Given the description of an element on the screen output the (x, y) to click on. 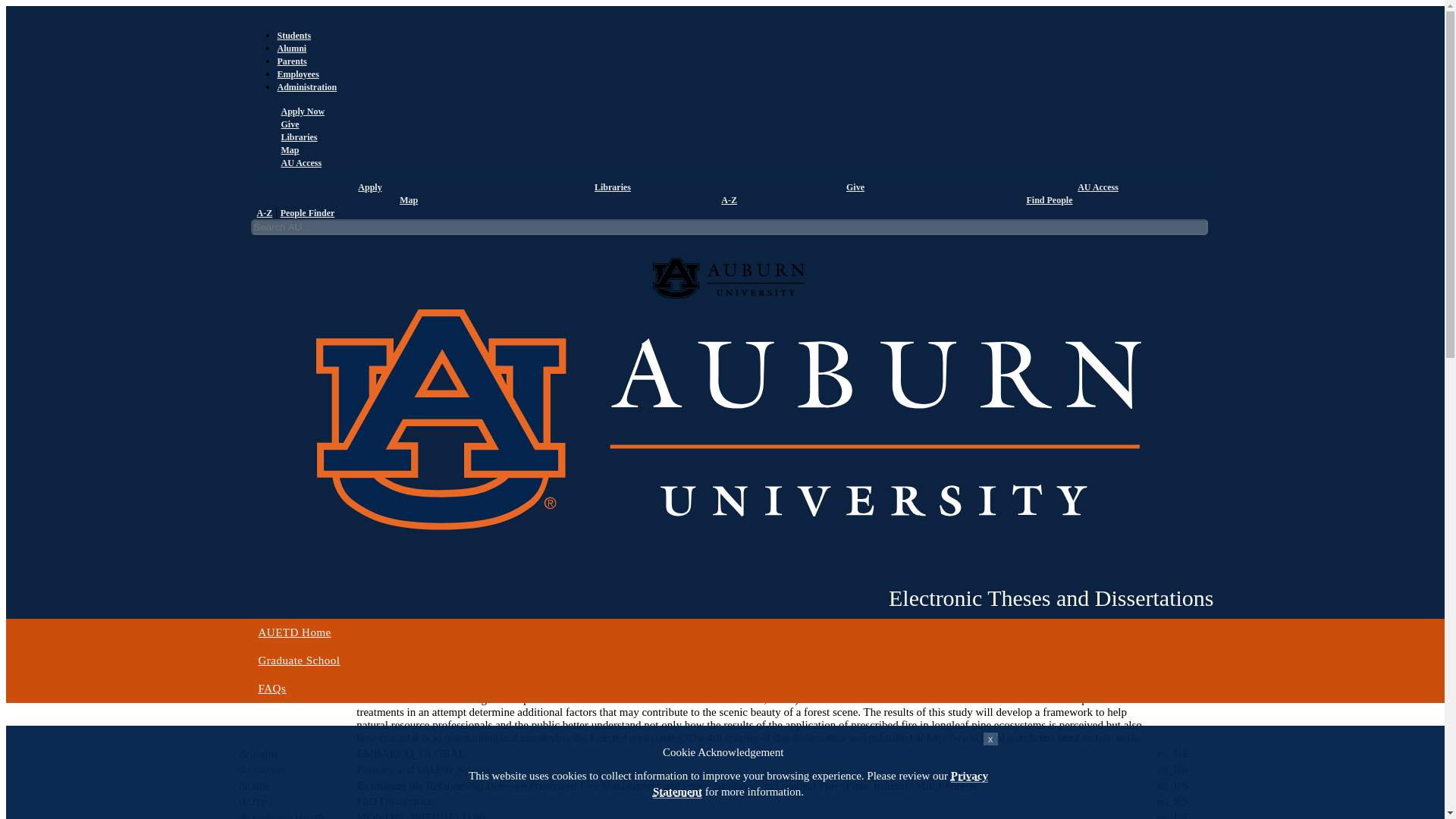
Map (288, 149)
Apply Now (301, 111)
Libraries (297, 136)
People Finder (307, 213)
A-Z (264, 213)
FAQs (727, 688)
AU Access (1096, 186)
By Issue Date (267, 219)
Show simple item record (292, 327)
Give (853, 186)
AUETD Home (727, 633)
Parents (292, 61)
Titles (349, 219)
x (990, 738)
